Given the description of an element on the screen output the (x, y) to click on. 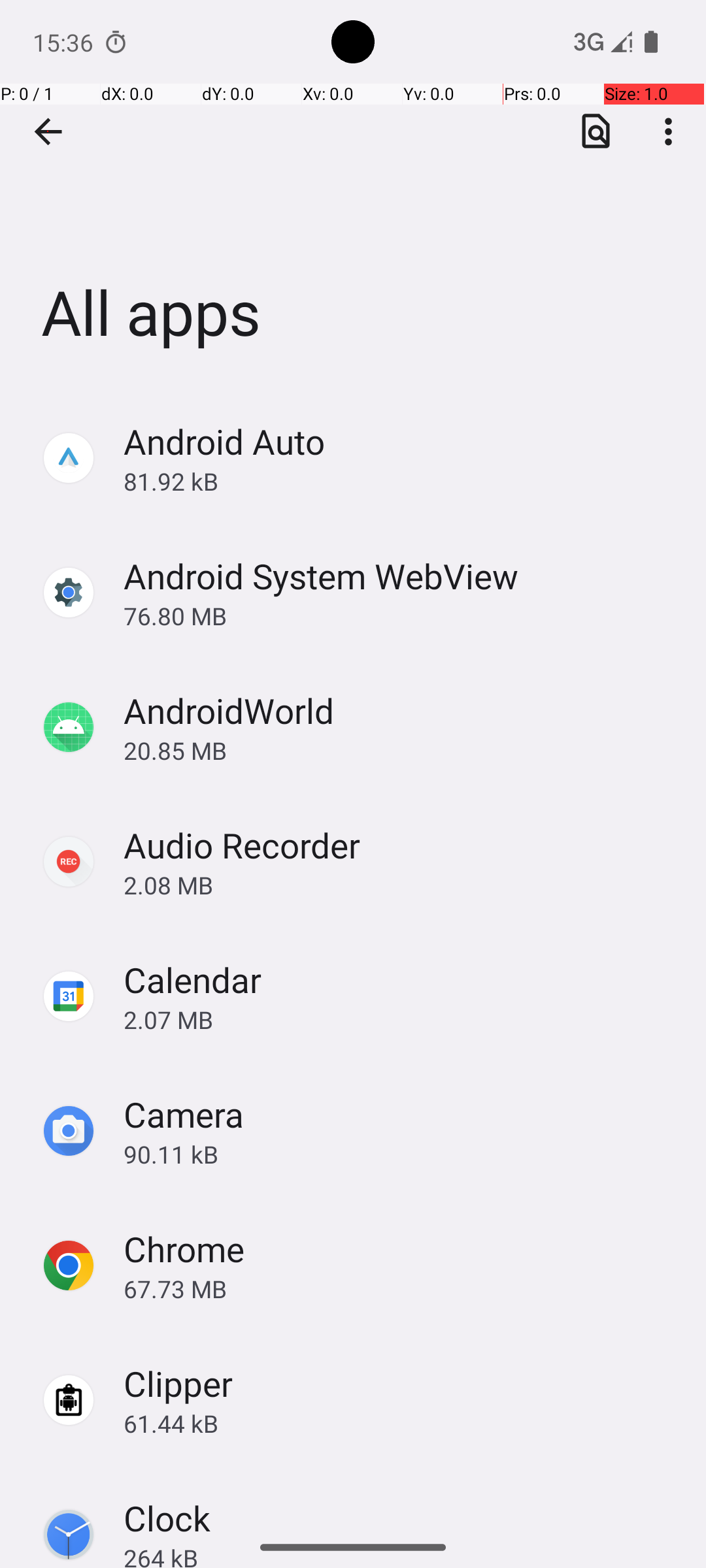
All apps Element type: android.widget.FrameLayout (353, 195)
81.92 kB Element type: android.widget.TextView (400, 480)
76.80 MB Element type: android.widget.TextView (400, 615)
20.85 MB Element type: android.widget.TextView (400, 750)
2.08 MB Element type: android.widget.TextView (400, 884)
2.07 MB Element type: android.widget.TextView (400, 1019)
90.11 kB Element type: android.widget.TextView (400, 1153)
67.73 MB Element type: android.widget.TextView (400, 1288)
61.44 kB Element type: android.widget.TextView (400, 1422)
